Given the description of an element on the screen output the (x, y) to click on. 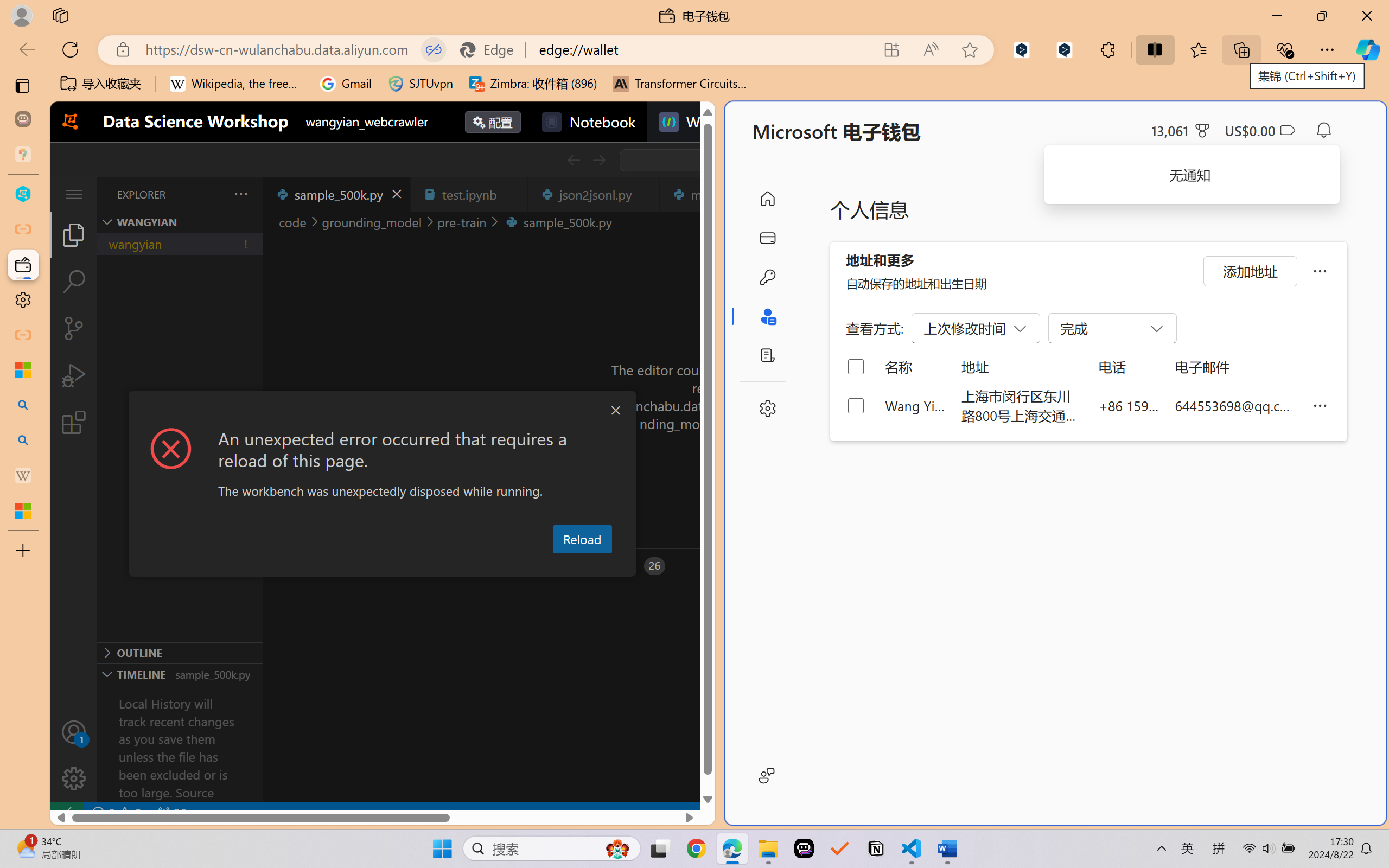
Class: ___1lmltc5 f1agt3bx f12qytpq (1286, 130)
Outline Section (179, 652)
remote (66, 812)
Microsoft Cashback - US$0.00 (1259, 129)
